Given the description of an element on the screen output the (x, y) to click on. 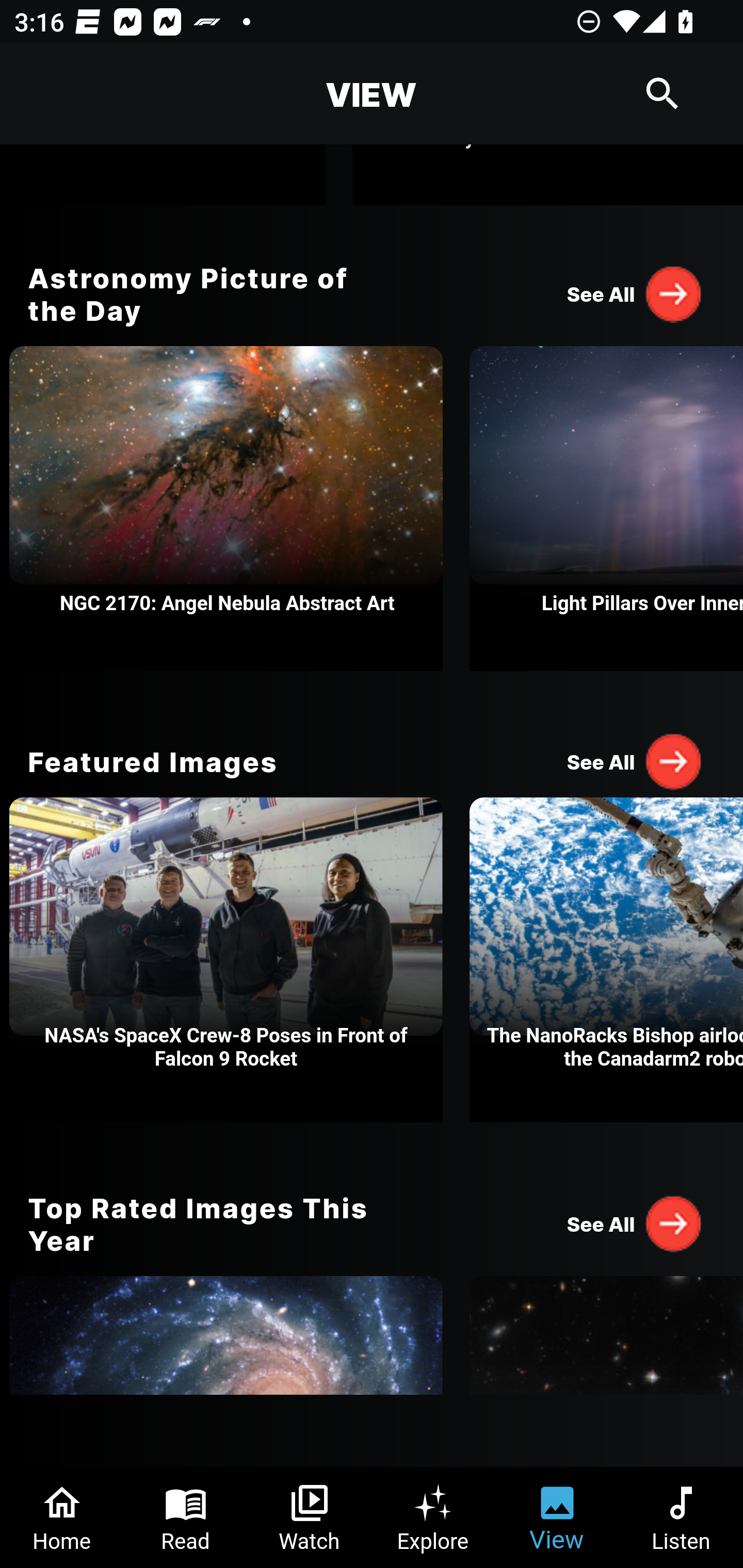
See All (634, 293)
NGC 2170: Angel Nebula Abstract Art (225, 508)
Light Pillars Over Inner Mongolia (606, 508)
See All (634, 760)
See All (634, 1222)
Home
Tab 1 of 6 (62, 1517)
Read
Tab 2 of 6 (185, 1517)
Watch
Tab 3 of 6 (309, 1517)
Explore
Tab 4 of 6 (433, 1517)
View
Tab 5 of 6 (556, 1517)
Listen
Tab 6 of 6 (680, 1517)
